Given the description of an element on the screen output the (x, y) to click on. 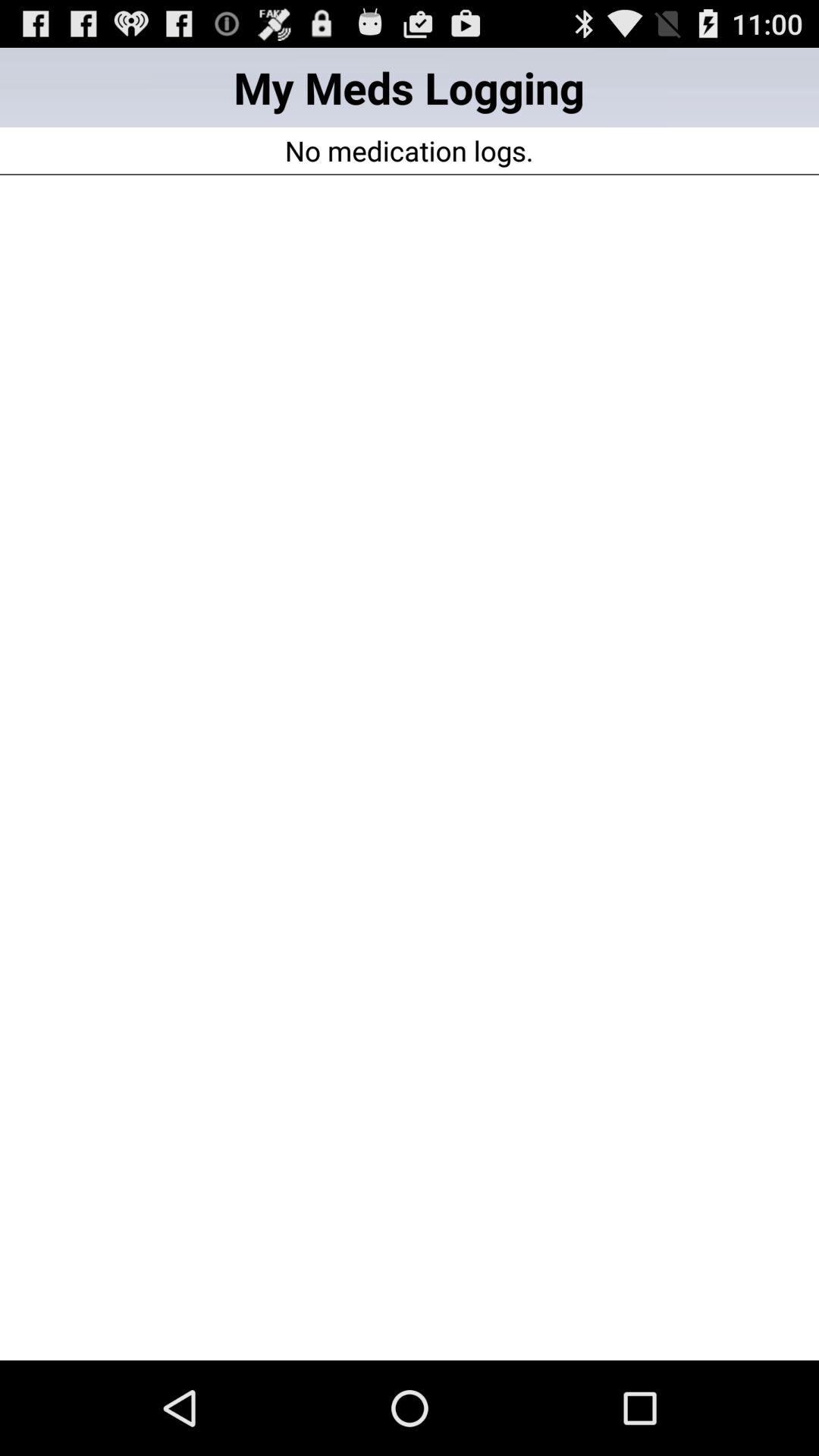
jump until no medication logs. item (409, 150)
